Given the description of an element on the screen output the (x, y) to click on. 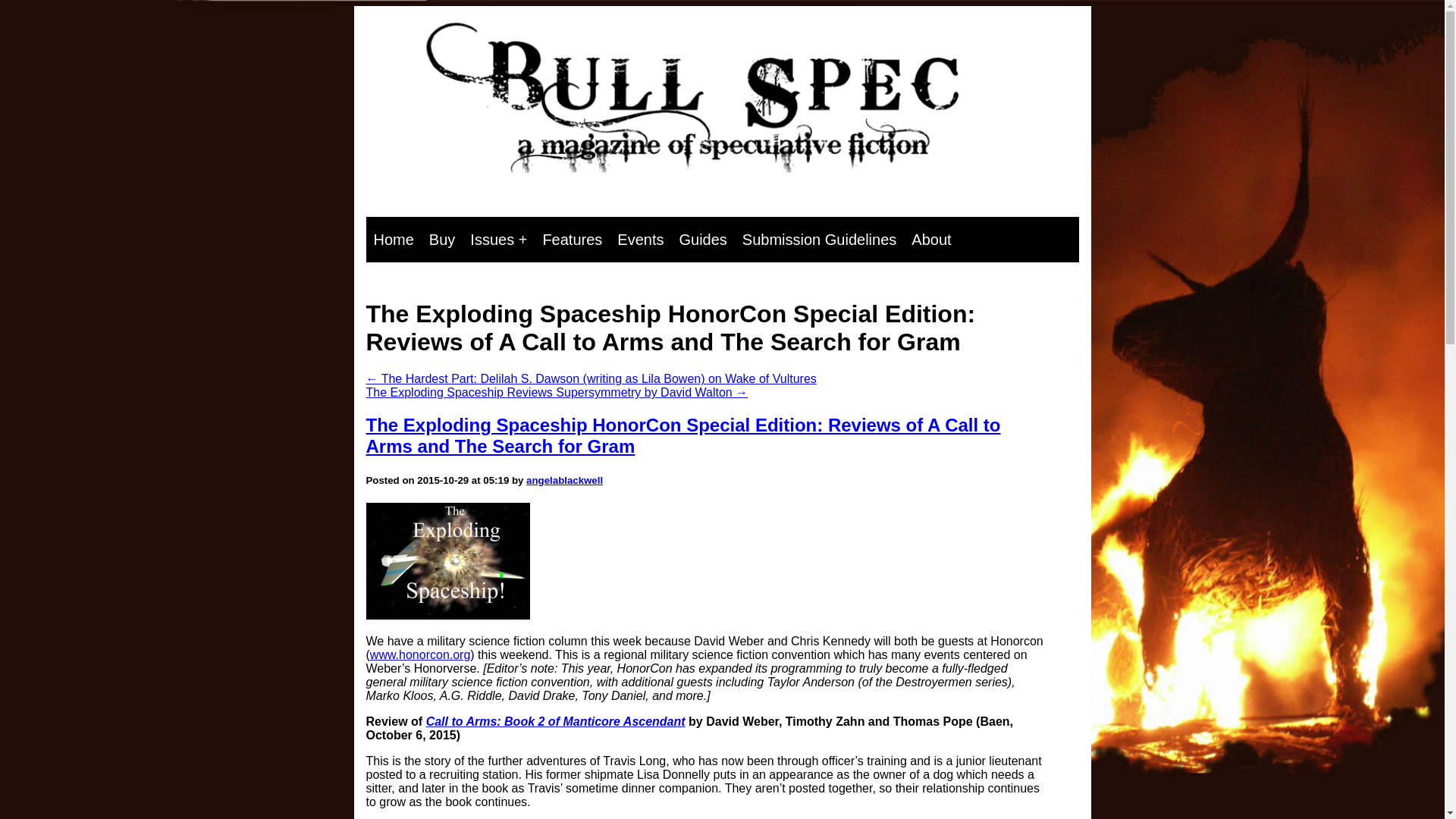
Issues (498, 239)
Home (392, 239)
Features (572, 239)
Events (640, 239)
www.honorcon.org (419, 654)
Guides (702, 239)
Call to Arms: Book 2 of Manticore Ascendant (555, 721)
Submission Guidelines (819, 239)
Buy (442, 239)
